Given the description of an element on the screen output the (x, y) to click on. 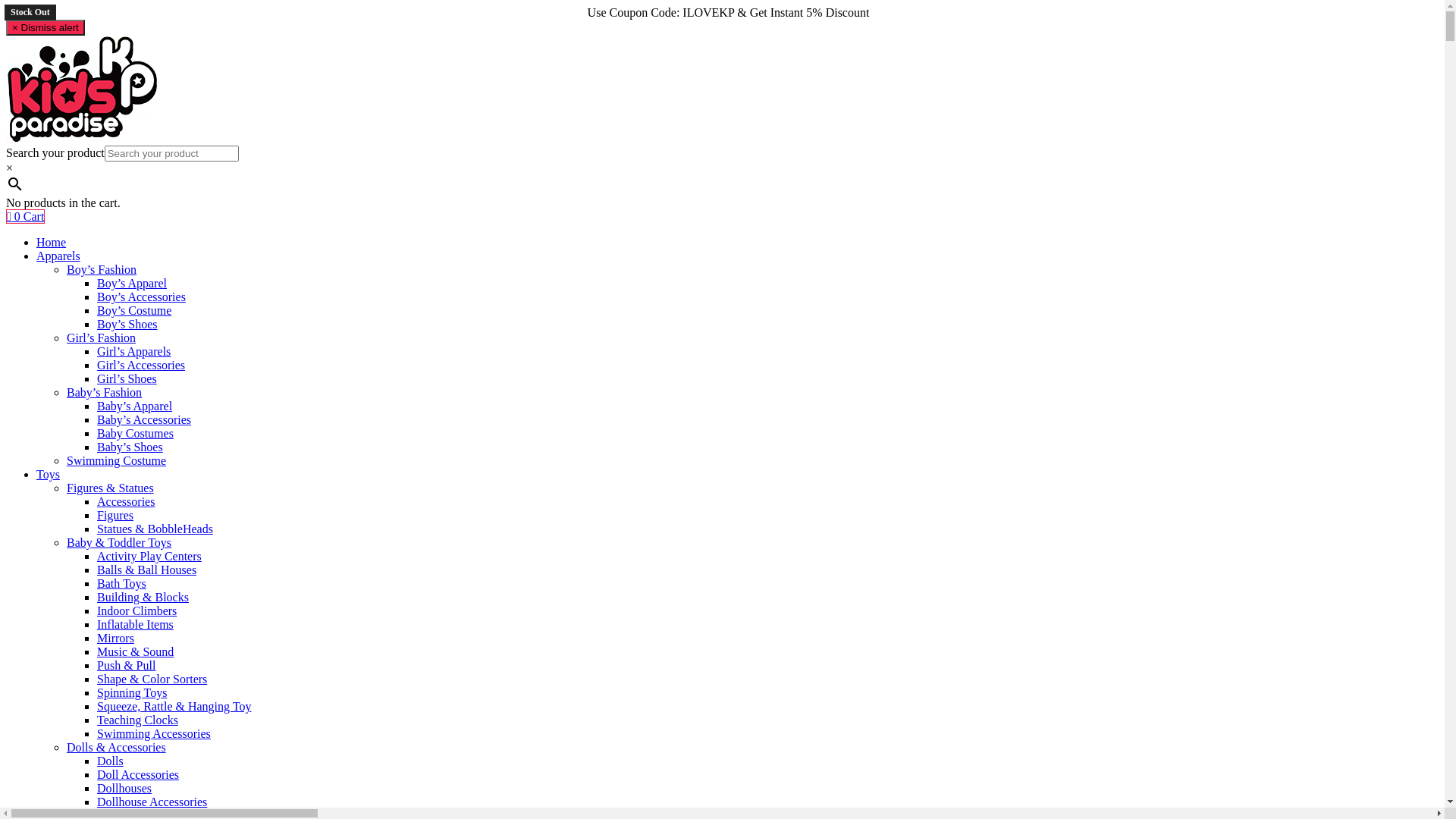
Figures & Statues Element type: text (109, 487)
Figures Element type: text (115, 514)
Activity Play Centers Element type: text (149, 555)
Swimming Accessories Element type: text (153, 733)
Building & Blocks Element type: text (142, 596)
Swimming Costume Element type: text (116, 460)
Indoor Climbers Element type: text (136, 610)
Home Element type: text (50, 241)
Statues & BobbleHeads Element type: text (155, 528)
Spinning Toys Element type: text (131, 692)
Toys Element type: text (47, 473)
Dolls & Accessories Element type: text (116, 746)
Teaching Clocks Element type: text (137, 719)
Dollhouses Element type: text (124, 787)
Accessories Element type: text (125, 501)
Push & Pull Element type: text (126, 664)
Squeeze, Rattle & Hanging Toy Element type: text (174, 705)
Bath Toys Element type: text (121, 583)
Baby Costumes Element type: text (135, 432)
Apparels Element type: text (58, 255)
Balls & Ball Houses Element type: text (146, 569)
Inflatable Items Element type: text (135, 624)
Shape & Color Sorters Element type: text (152, 678)
Baby & Toddler Toys Element type: text (118, 542)
Mirrors Element type: text (115, 637)
Music & Sound Element type: text (135, 651)
Dolls Element type: text (110, 760)
Doll Accessories Element type: text (137, 774)
Dollhouse Accessories Element type: text (152, 801)
